Given the description of an element on the screen output the (x, y) to click on. 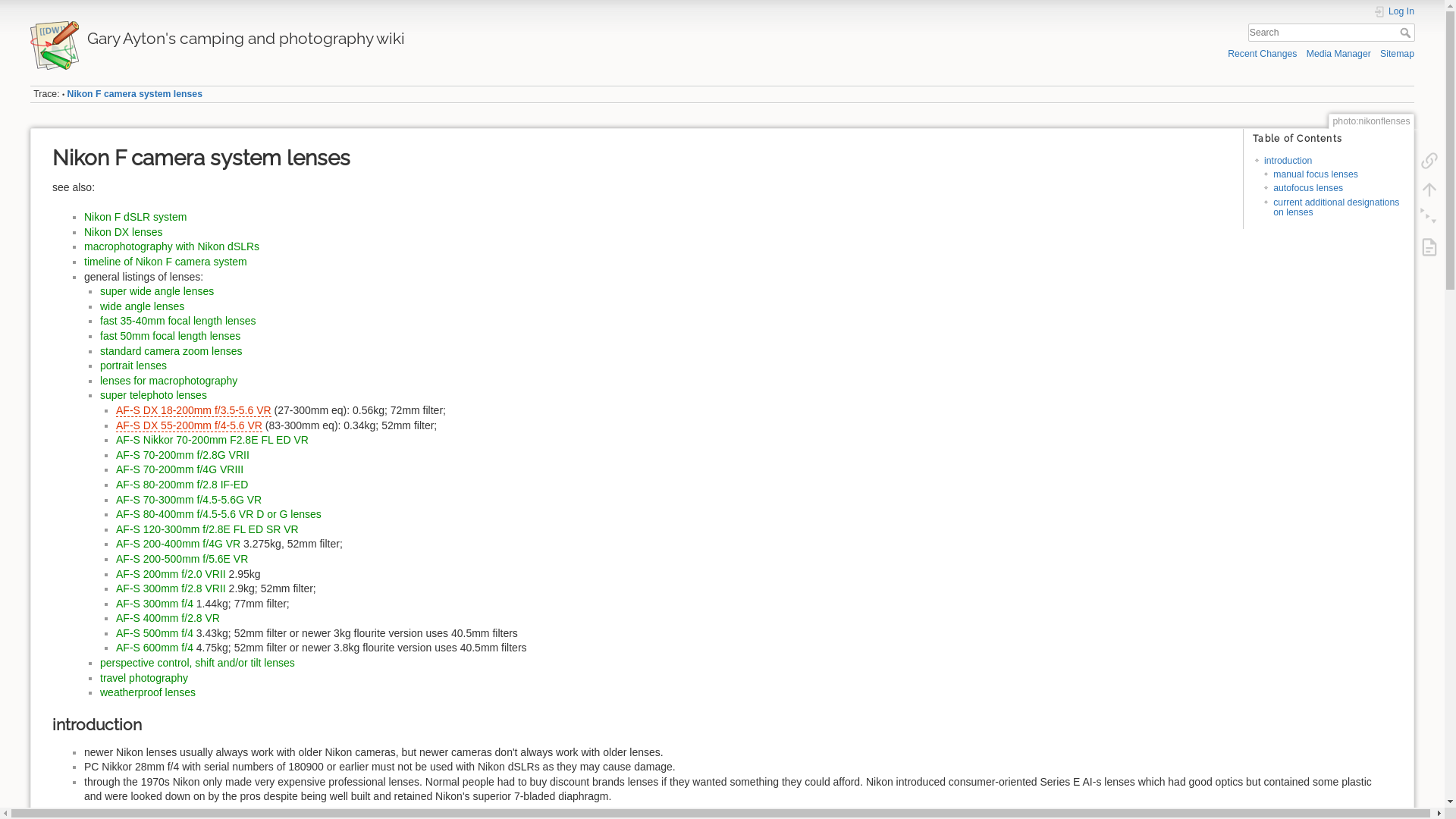
AF-S 500mm f/4 Element type: text (154, 633)
travel photography Element type: text (144, 677)
AF-S DX 55-200mm f/4-5.6 VR Element type: text (189, 425)
AF-S 200-400mm f/4G VR Element type: text (178, 543)
Back to top [t] Element type: hover (1429, 189)
wide angle lenses Element type: text (142, 306)
AF-S 70-200mm f/4G VRIII Element type: text (179, 469)
Nikon F dSLR system Element type: text (135, 216)
Import Element type: hover (1429, 246)
weatherproof lenses Element type: text (147, 692)
Search Element type: text (1406, 32)
fast 35-40mm focal length lenses Element type: text (177, 320)
current additional designations on lenses Element type: text (1336, 207)
AF-S 70-200mm f/2.8G VRII Element type: text (182, 454)
AF-S 300mm f/2.8 VRII Element type: text (170, 588)
Backlinks Element type: hover (1429, 160)
macrophotography with Nikon dSLRs Element type: text (171, 246)
Media Manager Element type: text (1338, 53)
manual focus lenses Element type: text (1315, 174)
AF-S Nikkor 70-200mm F2.8E FL ED VR Element type: text (212, 439)
timeline of Nikon F camera system Element type: text (165, 261)
introduction Element type: text (1287, 160)
lenses for macrophotography Element type: text (168, 380)
Sitemap Element type: text (1397, 53)
AF-S 600mm f/4 Element type: text (154, 647)
AF-S 80-400mm f/4.5-5.6 VR D or G lenses Element type: text (218, 514)
Log In Element type: text (1393, 11)
AF-S 70-300mm f/4.5-5.6G VR Element type: text (188, 499)
Recent Changes Element type: text (1261, 53)
AF-S 300mm f/4 Element type: text (154, 603)
super telephoto lenses Element type: text (153, 395)
standard camera zoom lenses Element type: text (171, 351)
autofocus lenses Element type: text (1308, 187)
perspective control, shift and/or tilt lenses Element type: text (197, 662)
Gary Ayton's camping and photography wiki Element type: text (369, 34)
Fold/unfold all Element type: hover (1429, 217)
portrait lenses Element type: text (133, 365)
AF-S 400mm f/2.8 VR Element type: text (167, 617)
AF-S DX 18-200mm f/3.5-5.6 VR Element type: text (193, 410)
super wide angle lenses Element type: text (156, 291)
Nikon DX lenses Element type: text (123, 231)
fast 50mm focal length lenses Element type: text (170, 335)
Nikon F camera system lenses Element type: text (134, 93)
AF-S 80-200mm f/2.8 IF-ED Element type: text (181, 484)
AF-S 200mm f/2.0 VRII Element type: text (170, 573)
AF-S 120-300mm f/2.8E FL ED SR VR Element type: text (207, 529)
[F] Element type: hover (1331, 32)
AF-S 200-500mm f/5.6E VR Element type: text (181, 558)
